Given the description of an element on the screen output the (x, y) to click on. 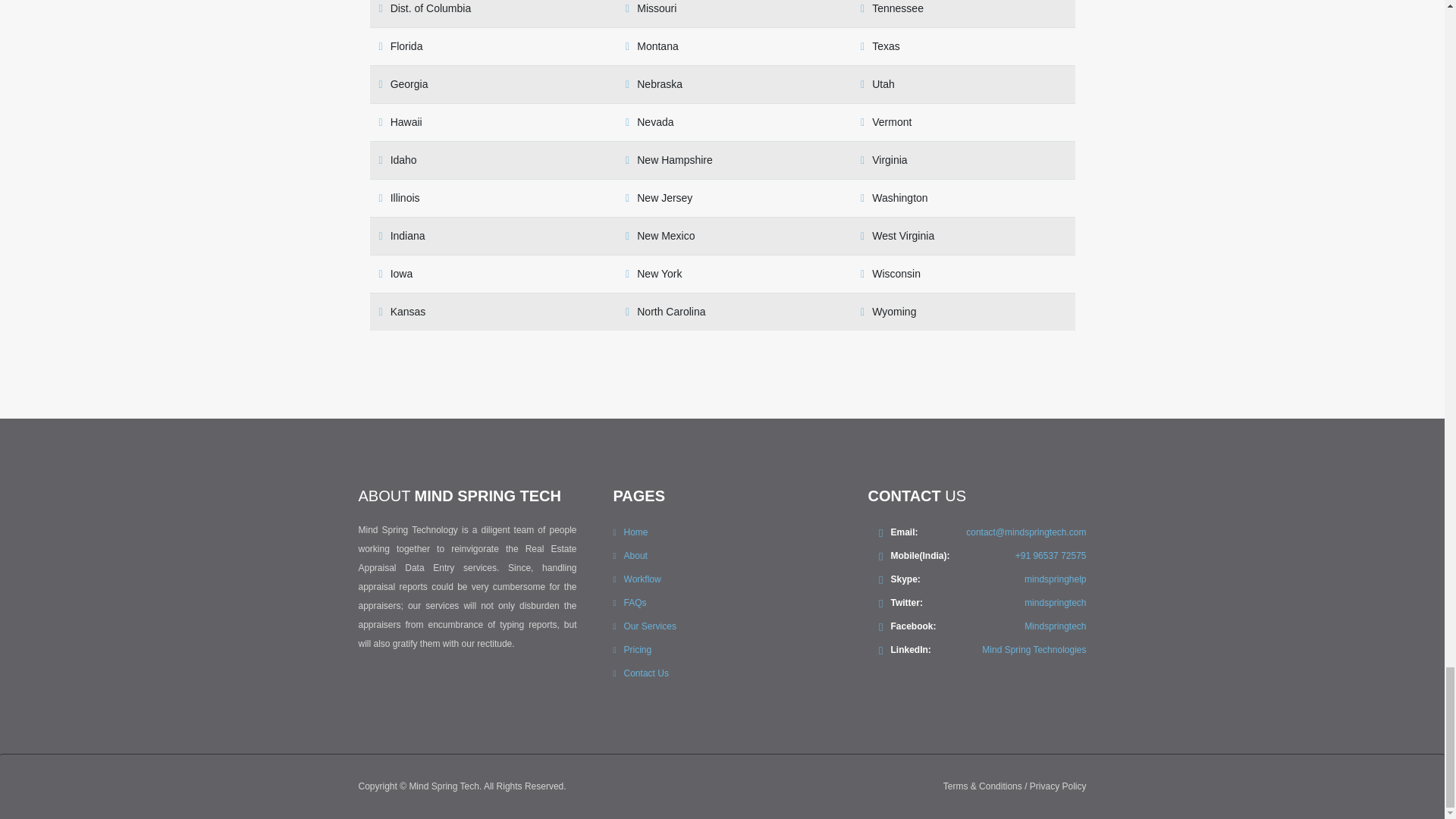
Mindspringtech (1055, 625)
FAQs (635, 602)
Pricing (638, 649)
Mind Spring Technologies (1033, 649)
mindspringtech (1055, 602)
Our Services (650, 625)
Workflow (642, 579)
About (635, 555)
Home (635, 532)
Mind Spring Tech (444, 786)
